Given the description of an element on the screen output the (x, y) to click on. 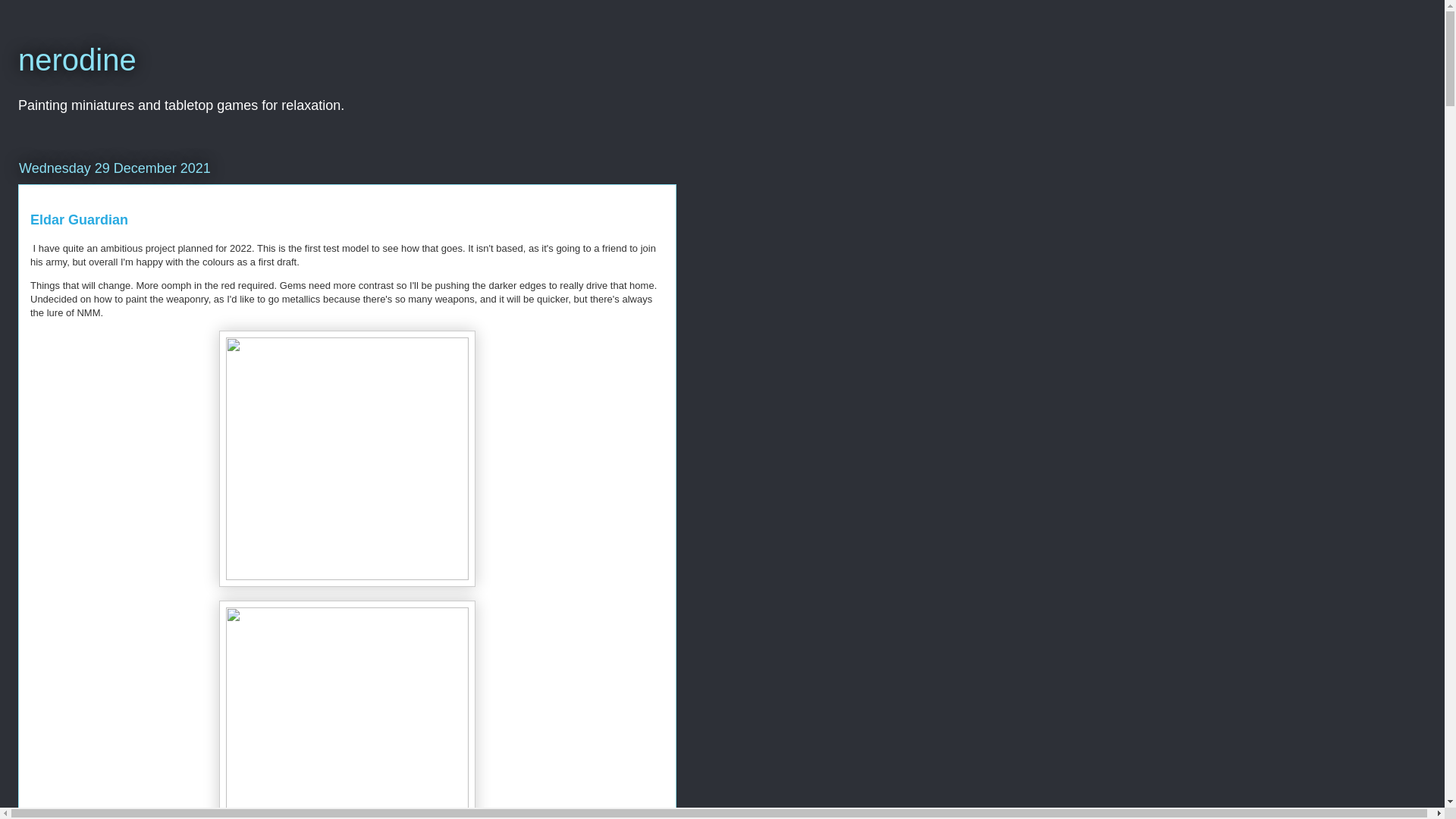
nerodine (76, 59)
